Given the description of an element on the screen output the (x, y) to click on. 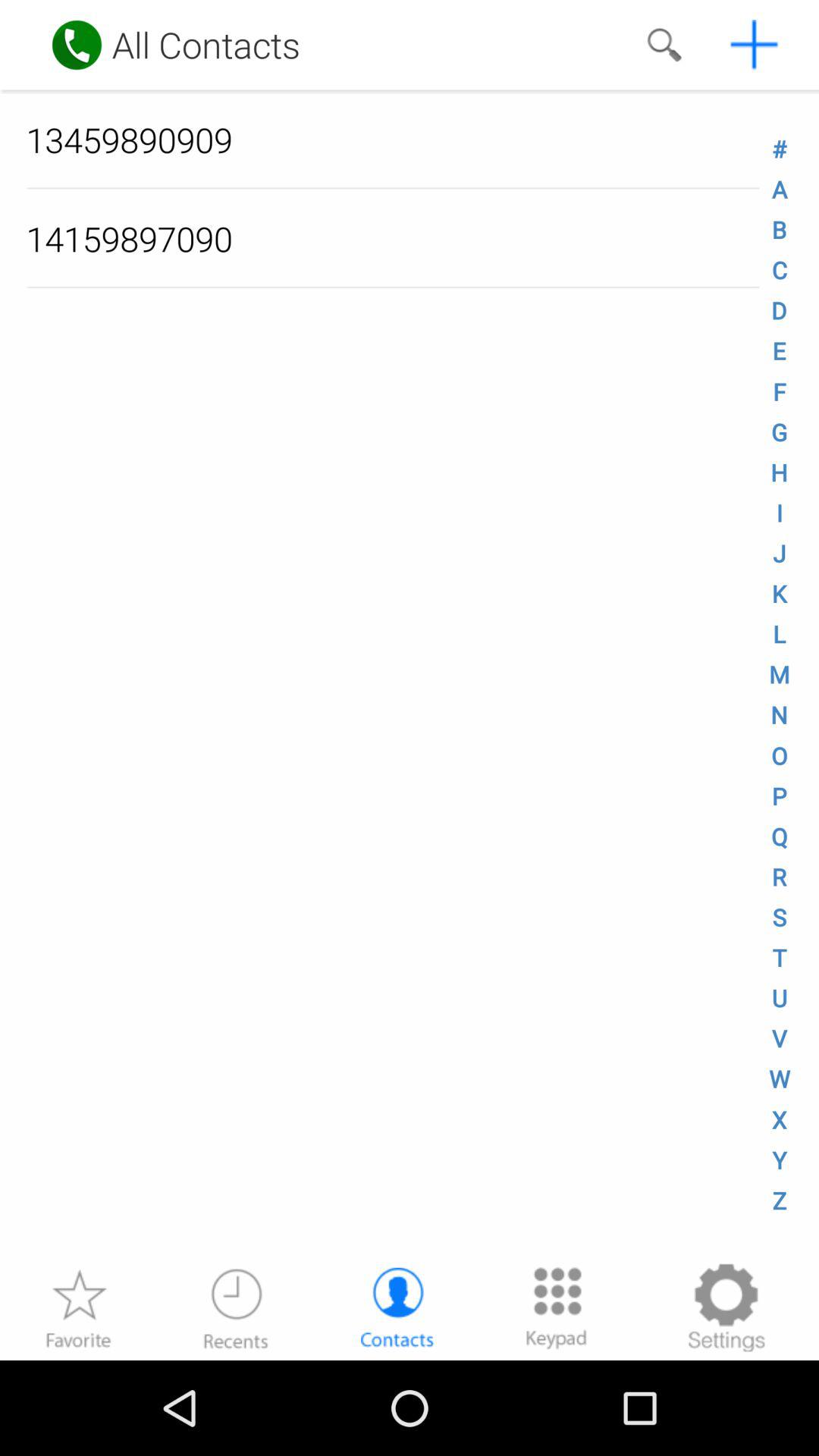
search contacts button (664, 44)
